Given the description of an element on the screen output the (x, y) to click on. 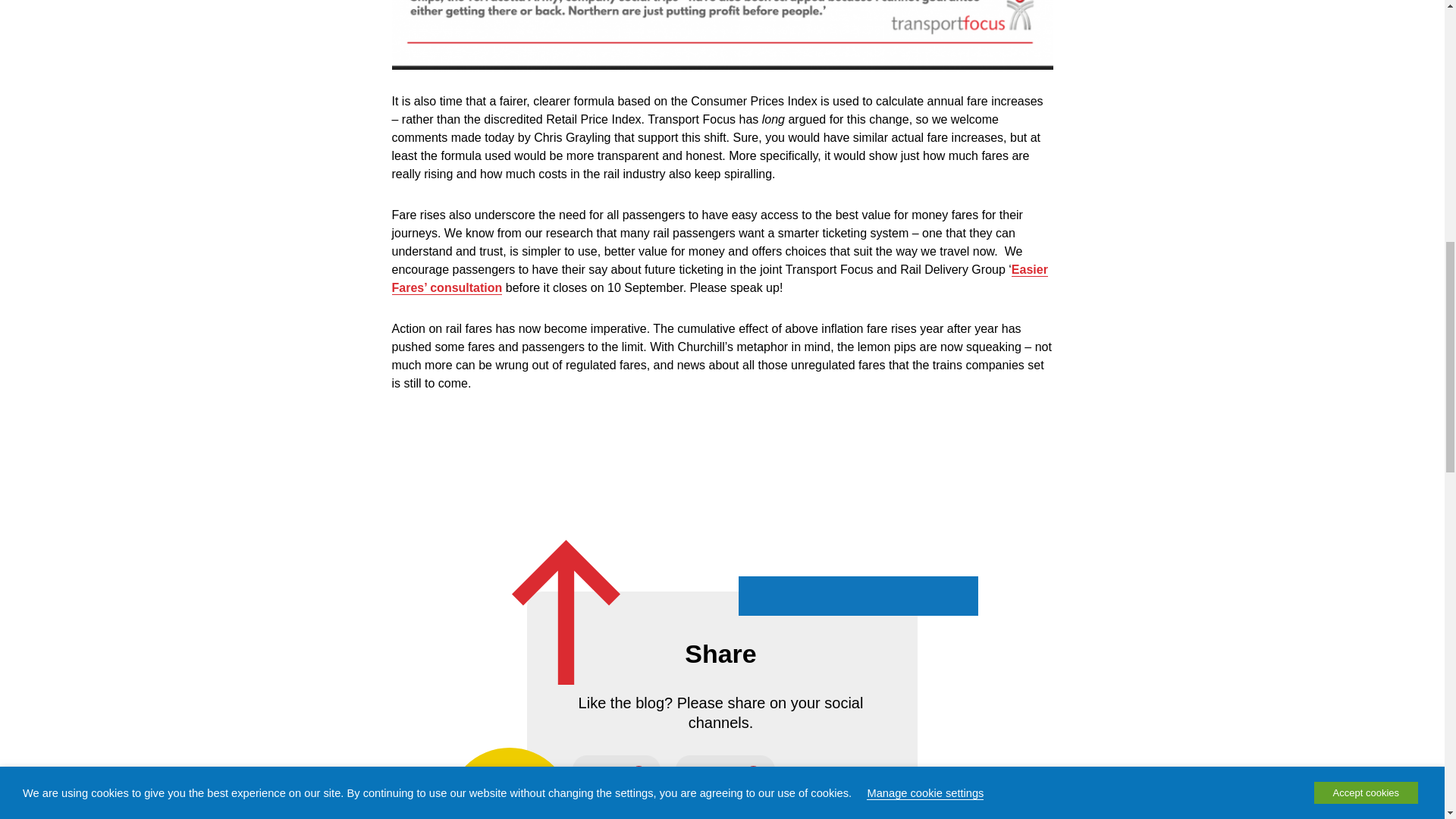
Twitter (616, 771)
LinkedIn (724, 771)
